Given the description of an element on the screen output the (x, y) to click on. 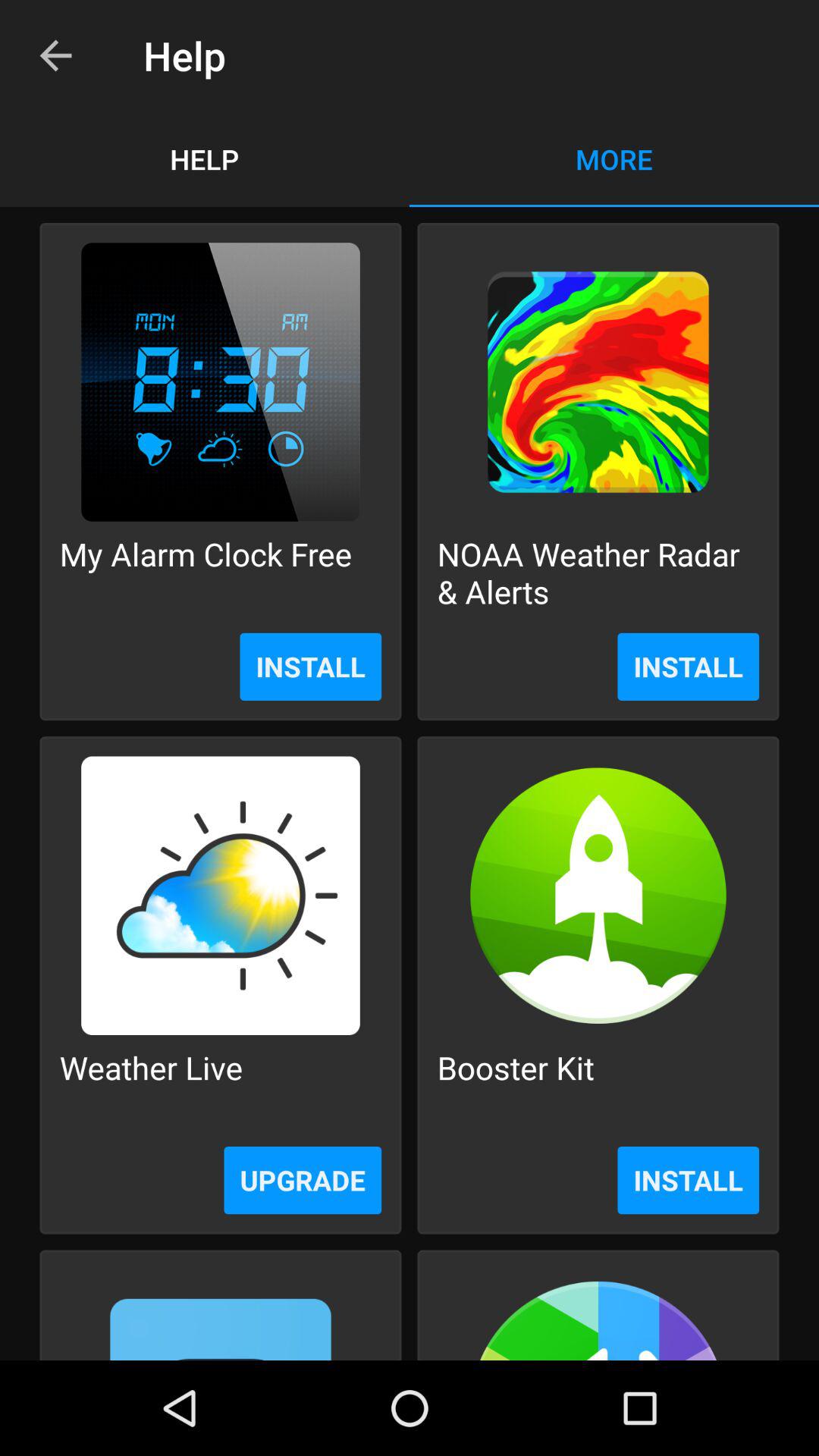
swipe until noaa weather radar item (598, 572)
